Given the description of an element on the screen output the (x, y) to click on. 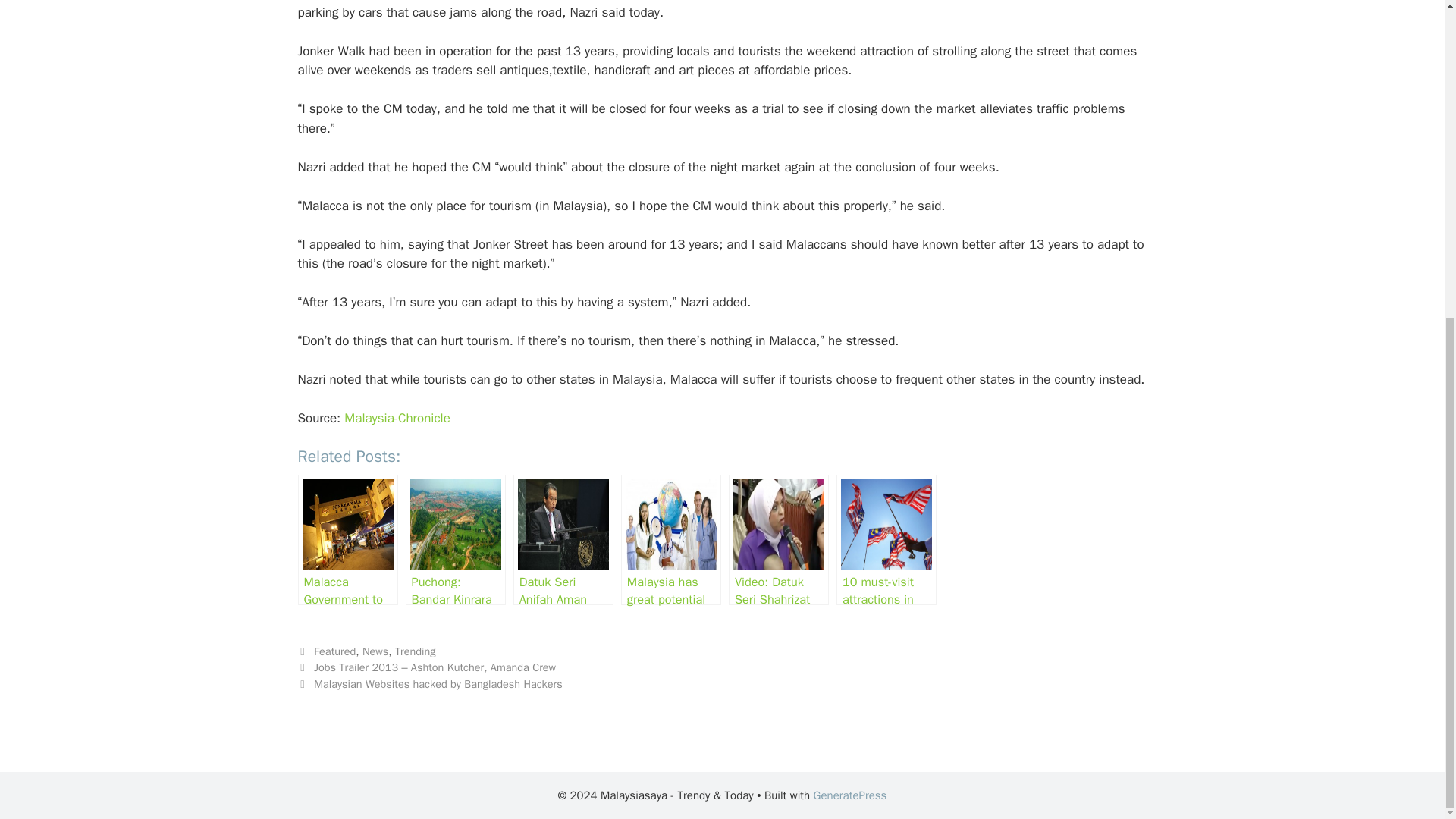
Malaysia-Chronicle (396, 417)
GeneratePress (849, 795)
Featured (334, 651)
Trending (414, 651)
Malaysian Websites hacked by Bangladesh Hackers (438, 684)
News (375, 651)
